Given the description of an element on the screen output the (x, y) to click on. 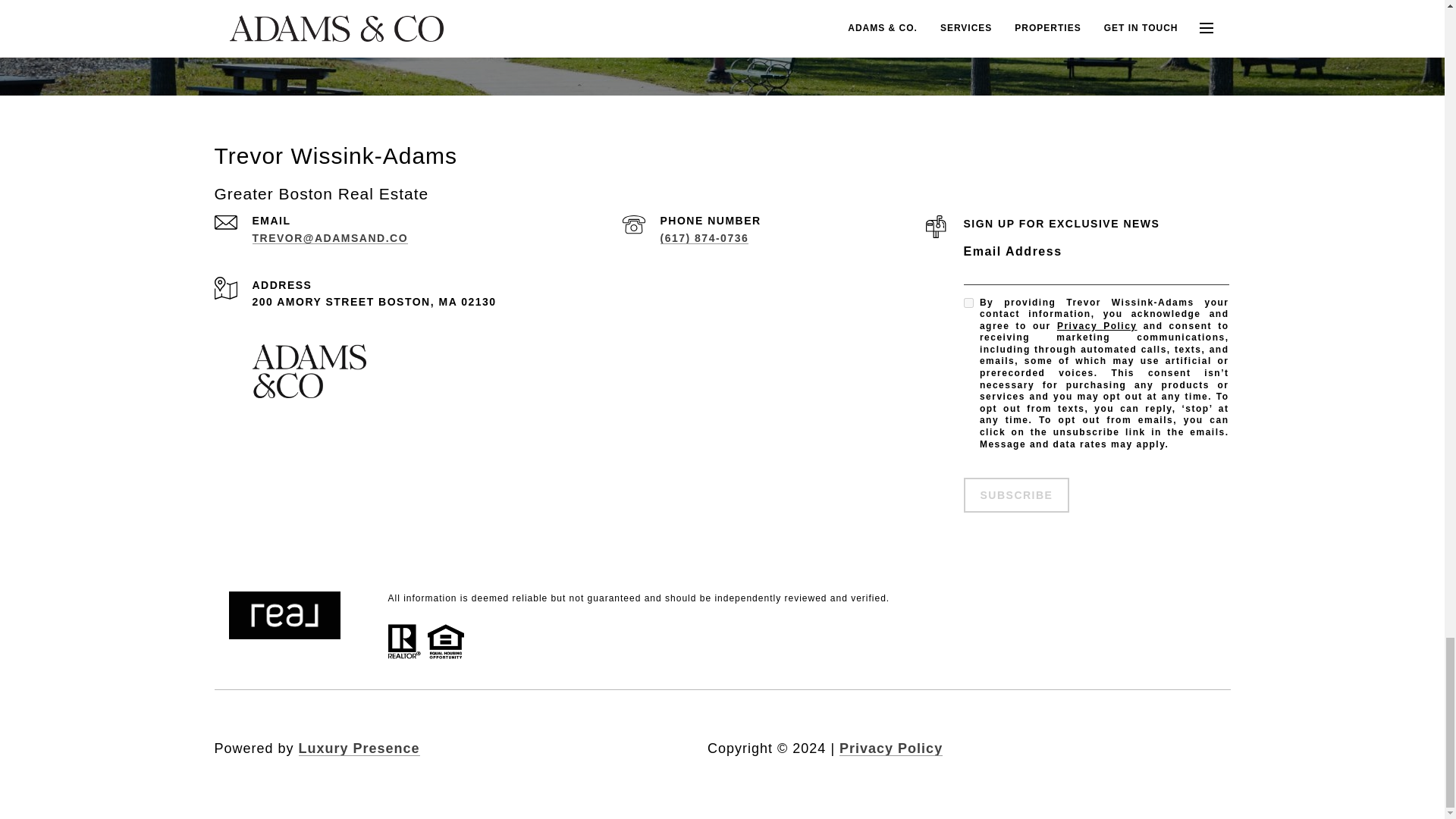
on (967, 302)
